Given the description of an element on the screen output the (x, y) to click on. 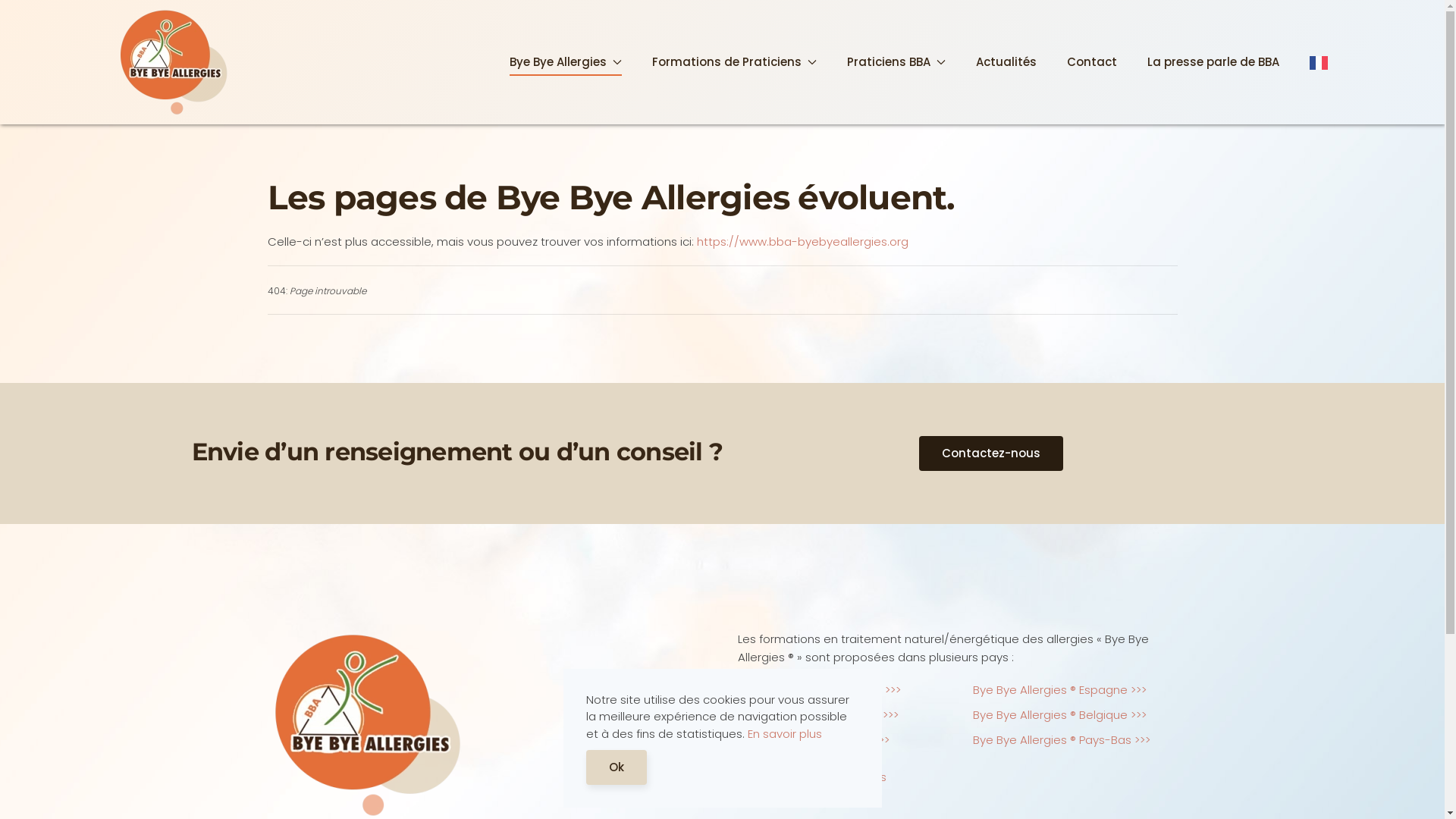
La presse parle de BBA Element type: text (1212, 61)
Contactez-nous Element type: text (991, 453)
Consultations individuelles Element type: text (811, 776)
Contact Element type: text (1091, 61)
Formations de Praticiens Element type: text (734, 61)
https://www.bba-byebyeallergies.org Element type: text (801, 241)
Praticiens BBA Element type: text (896, 61)
Bye Bye Allergies Element type: text (565, 61)
Ok Element type: text (615, 766)
En savoir plus Element type: text (784, 732)
